Given the description of an element on the screen output the (x, y) to click on. 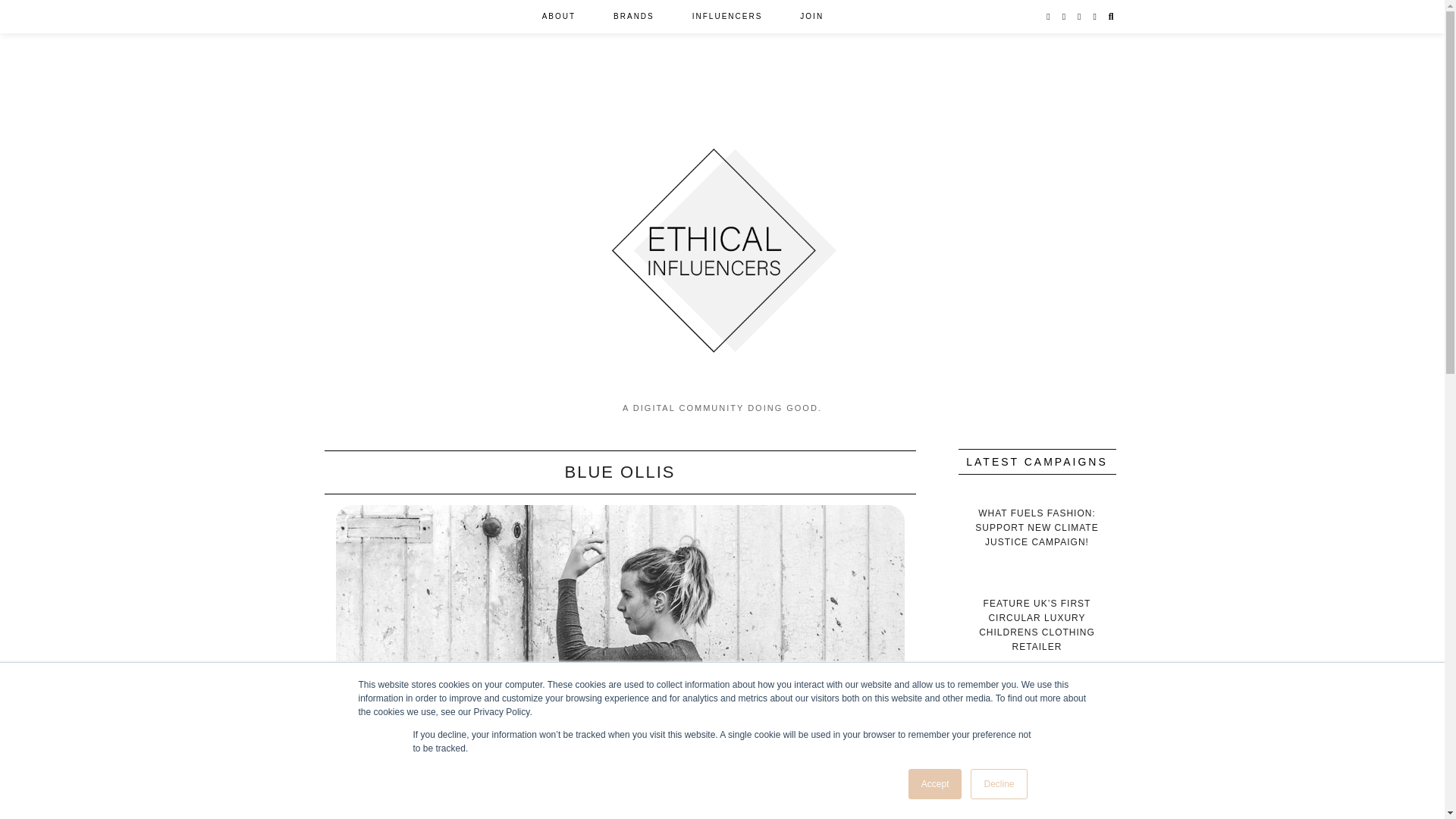
ABOUT (558, 16)
Facebook (1064, 16)
Decline (998, 784)
Email (1095, 16)
Accept (935, 784)
Instagram (1048, 16)
Search (1111, 16)
